Given the description of an element on the screen output the (x, y) to click on. 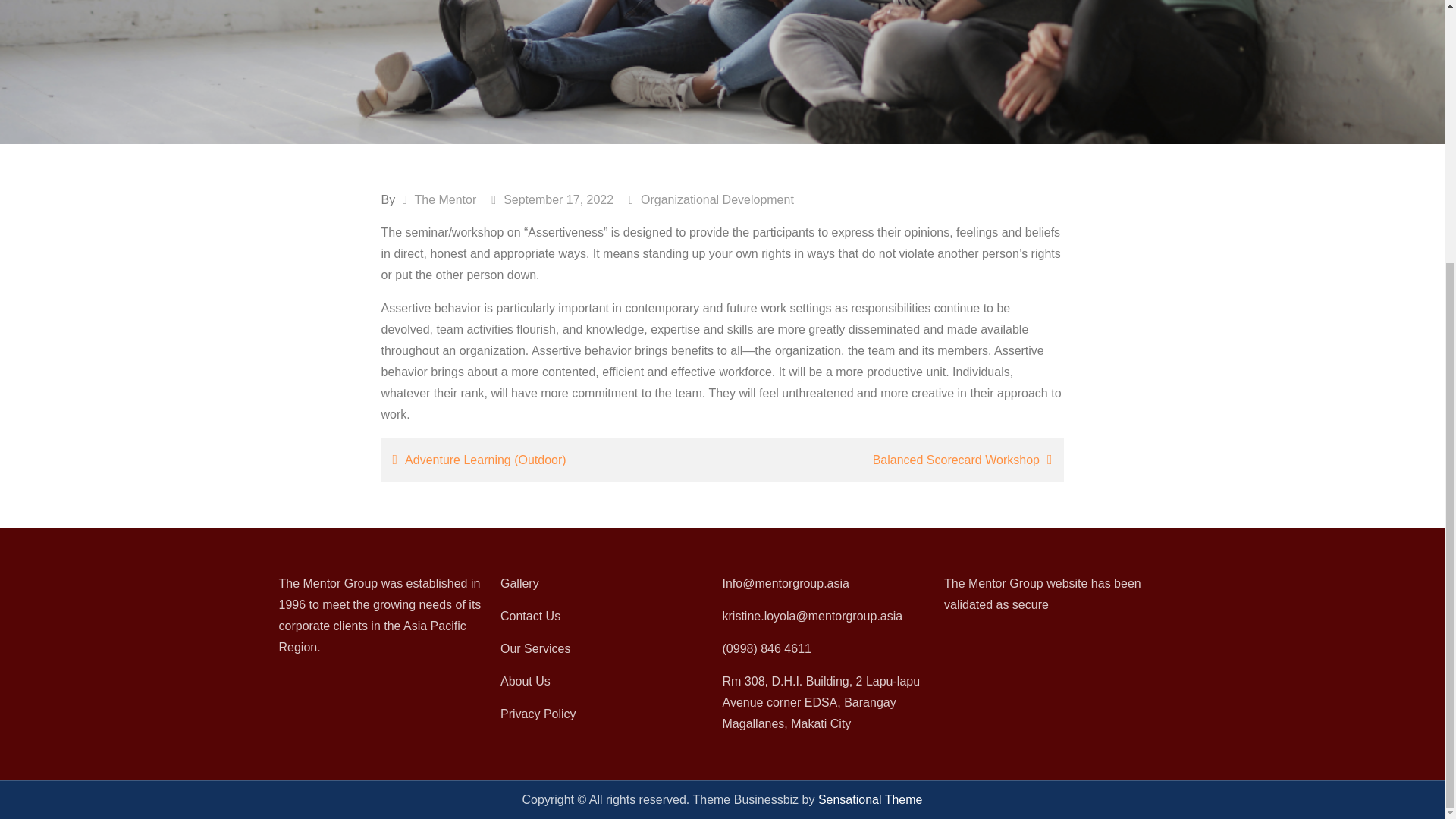
Gallery (519, 583)
Sensational Theme (870, 799)
Organizational Development (716, 199)
Contact Us (530, 615)
The Mentor (444, 199)
Balanced Scorecard Workshop (896, 459)
Our Services (535, 648)
About Us (525, 680)
Privacy Policy (538, 713)
September 17, 2022 (552, 199)
